Given the description of an element on the screen output the (x, y) to click on. 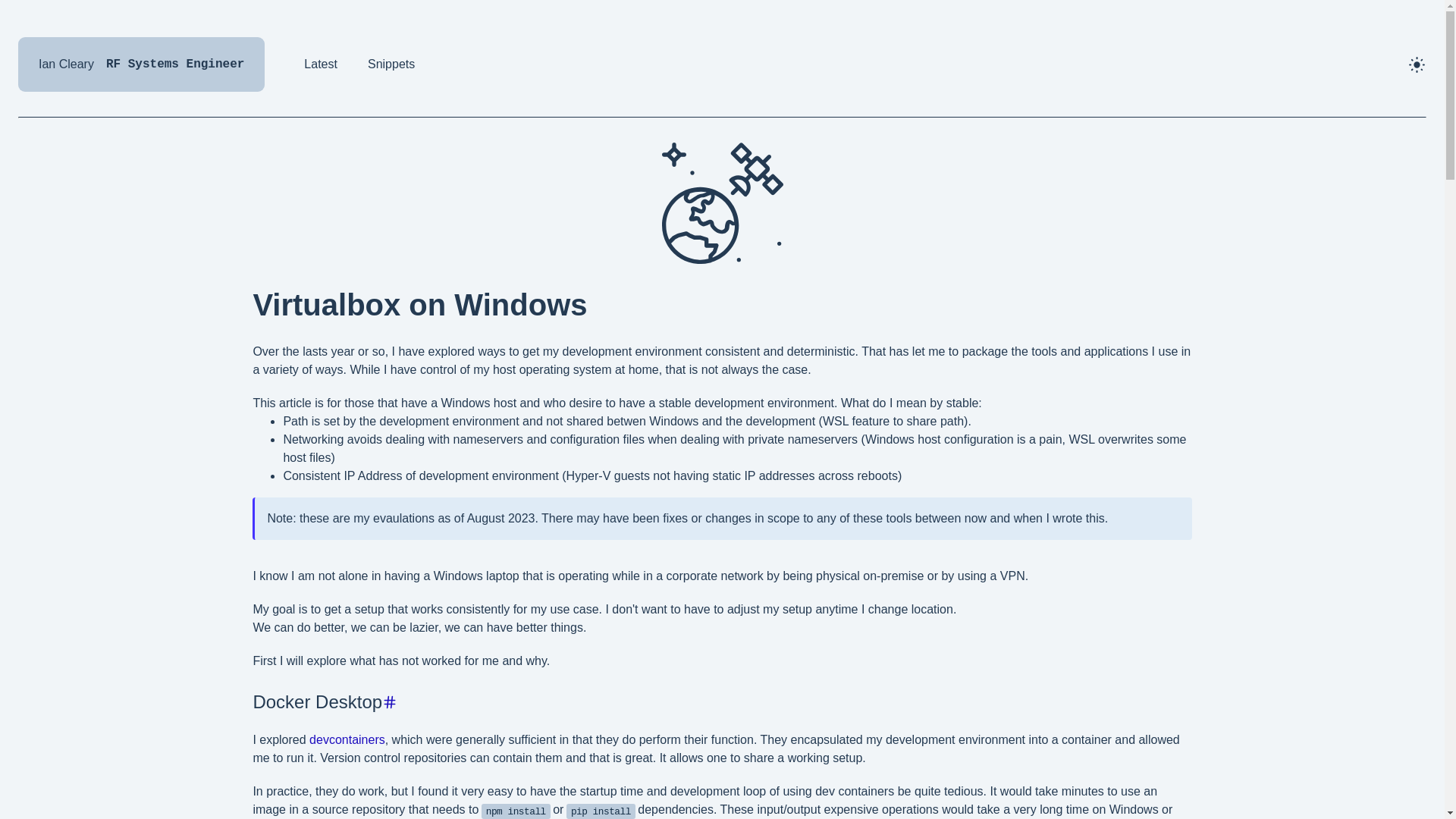
Latest (140, 63)
Snippets (320, 63)
devcontainers (391, 63)
